Given the description of an element on the screen output the (x, y) to click on. 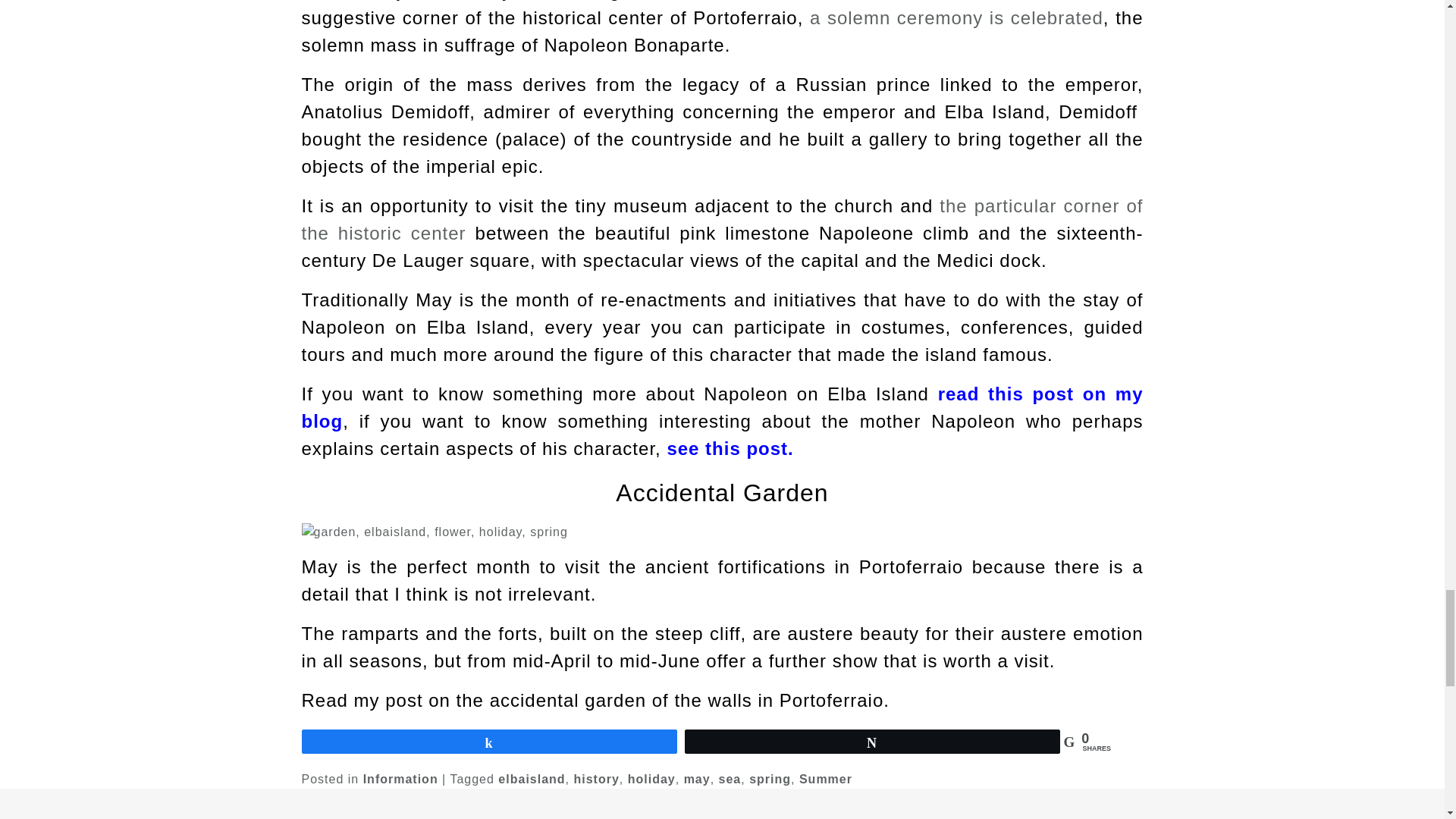
see this post. (729, 448)
Information (400, 779)
read this post on my blog (721, 407)
